Given the description of an element on the screen output the (x, y) to click on. 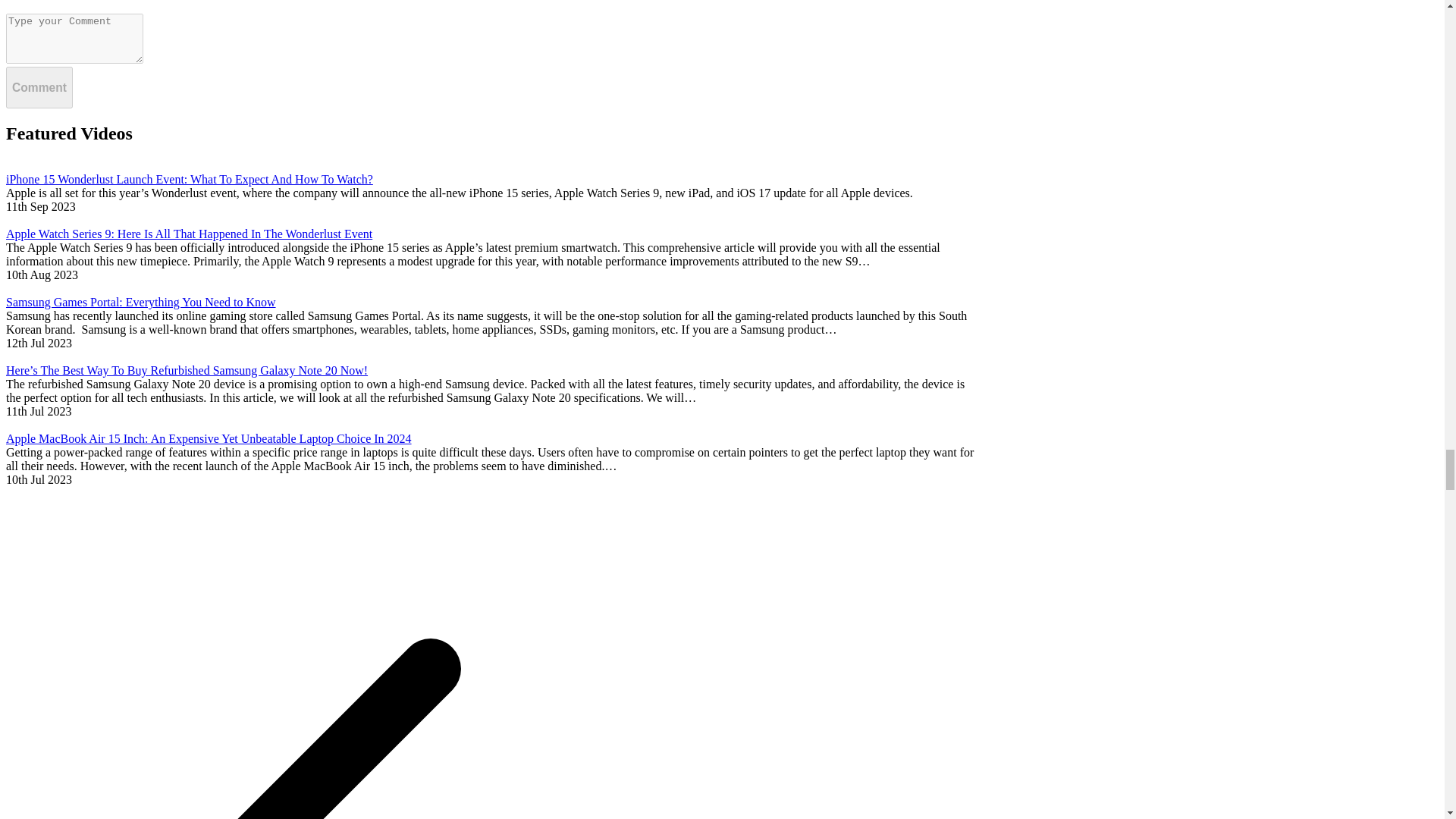
Samsung Games Portal: Everything You Need to Know (490, 302)
Comment (38, 87)
